Given the description of an element on the screen output the (x, y) to click on. 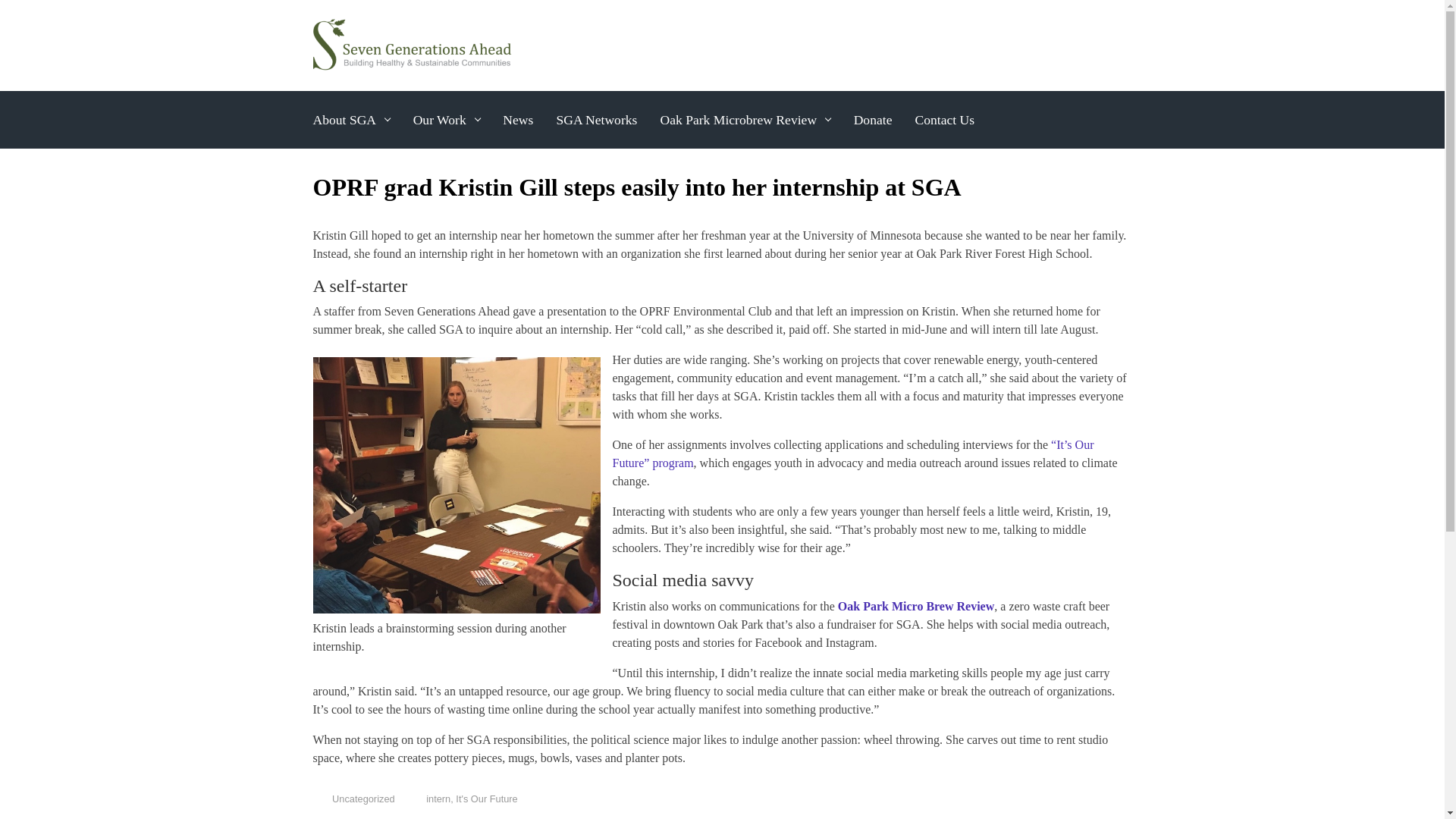
Oak Park Micro Brew Review (916, 605)
intern (437, 798)
Oak Park Microbrew Review (744, 119)
It's Our Future (485, 798)
News (517, 119)
About SGA (350, 119)
Donate (872, 119)
Our Work (446, 119)
Uncategorized (362, 798)
Contact Us (943, 119)
SGA Networks (596, 119)
